Given the description of an element on the screen output the (x, y) to click on. 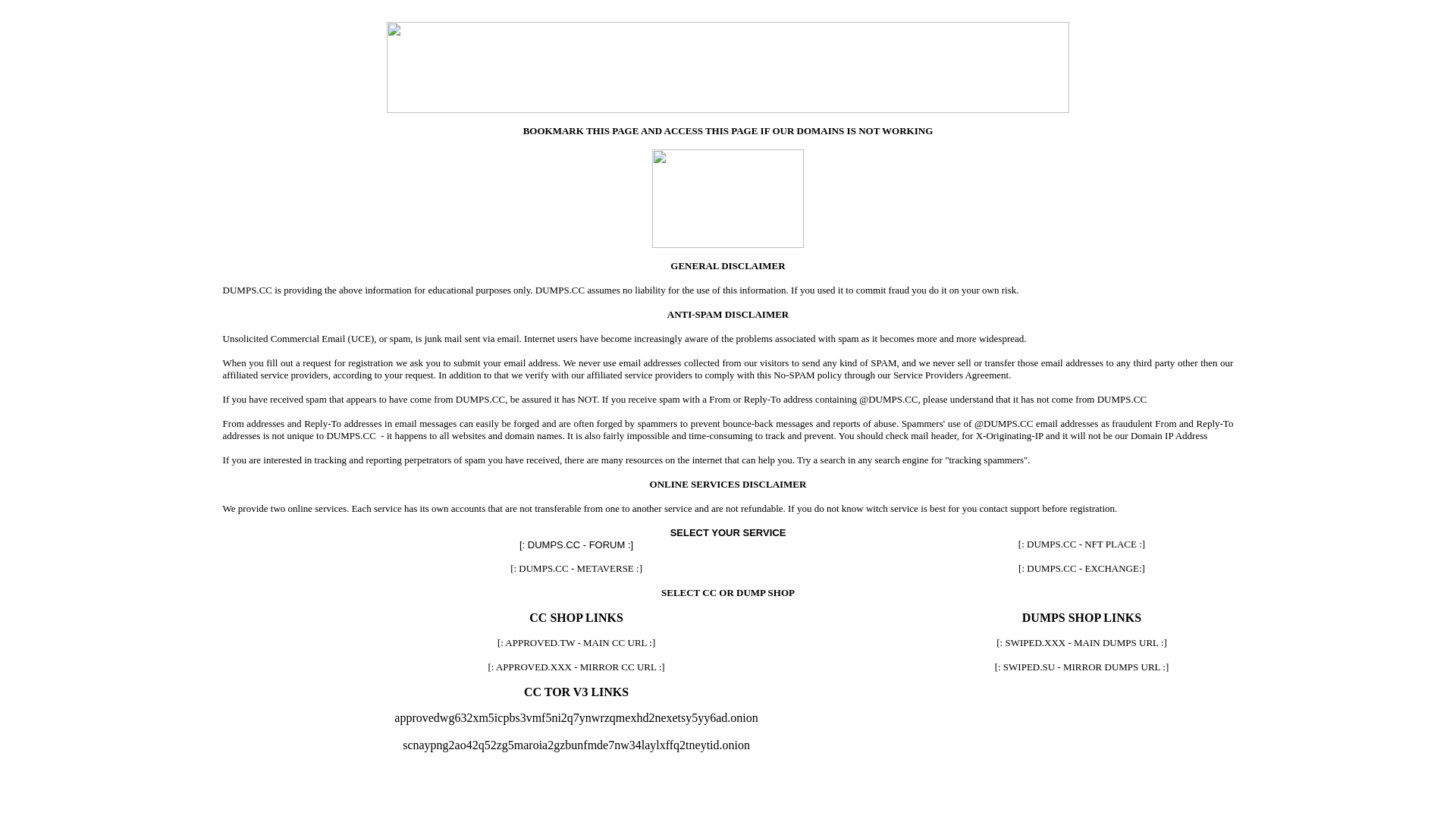
[: SWIPED.SU - MIRROR DUMPS URL :] Element type: text (1081, 666)
[: APPROVED.XXX - MIRROR CC URL :] Element type: text (575, 666)
[: DUMPS.CC - FORUM :] Element type: text (576, 543)
[: DUMPS.CC - EXCHANGE:] Element type: text (1081, 568)
[: DUMPS.CC - METAVERSE :] Element type: text (576, 568)
[: DUMPS.CC - NFT PLACE :] Element type: text (1081, 543)
[: APPROVED.TW - MAIN CC URL :] Element type: text (576, 642)
[: SWIPED.XXX - MAIN DUMPS URL :] Element type: text (1081, 642)
